Given the description of an element on the screen output the (x, y) to click on. 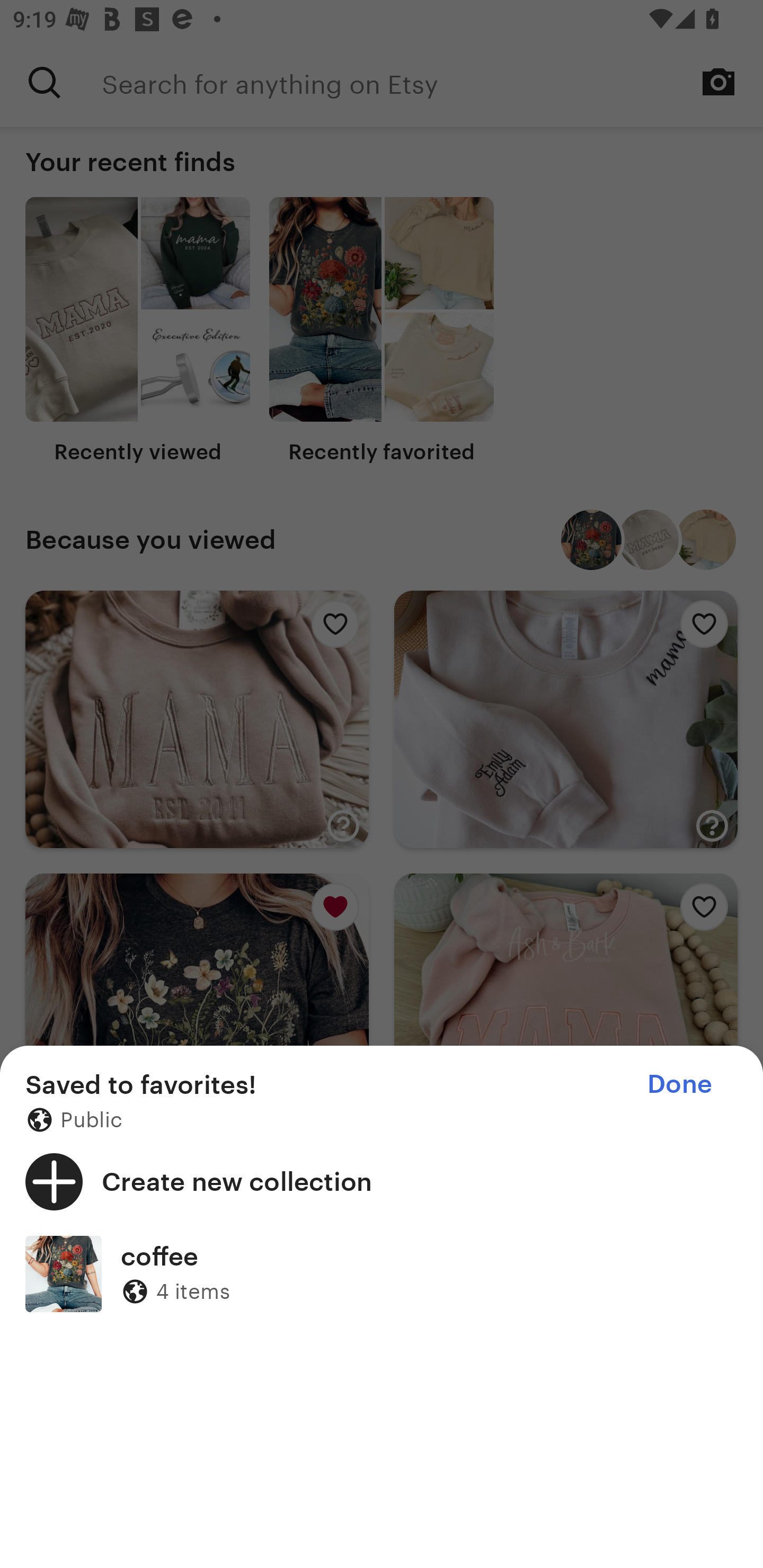
Done (679, 1083)
Create new collection (381, 1181)
coffee 4 items (381, 1273)
